Given the description of an element on the screen output the (x, y) to click on. 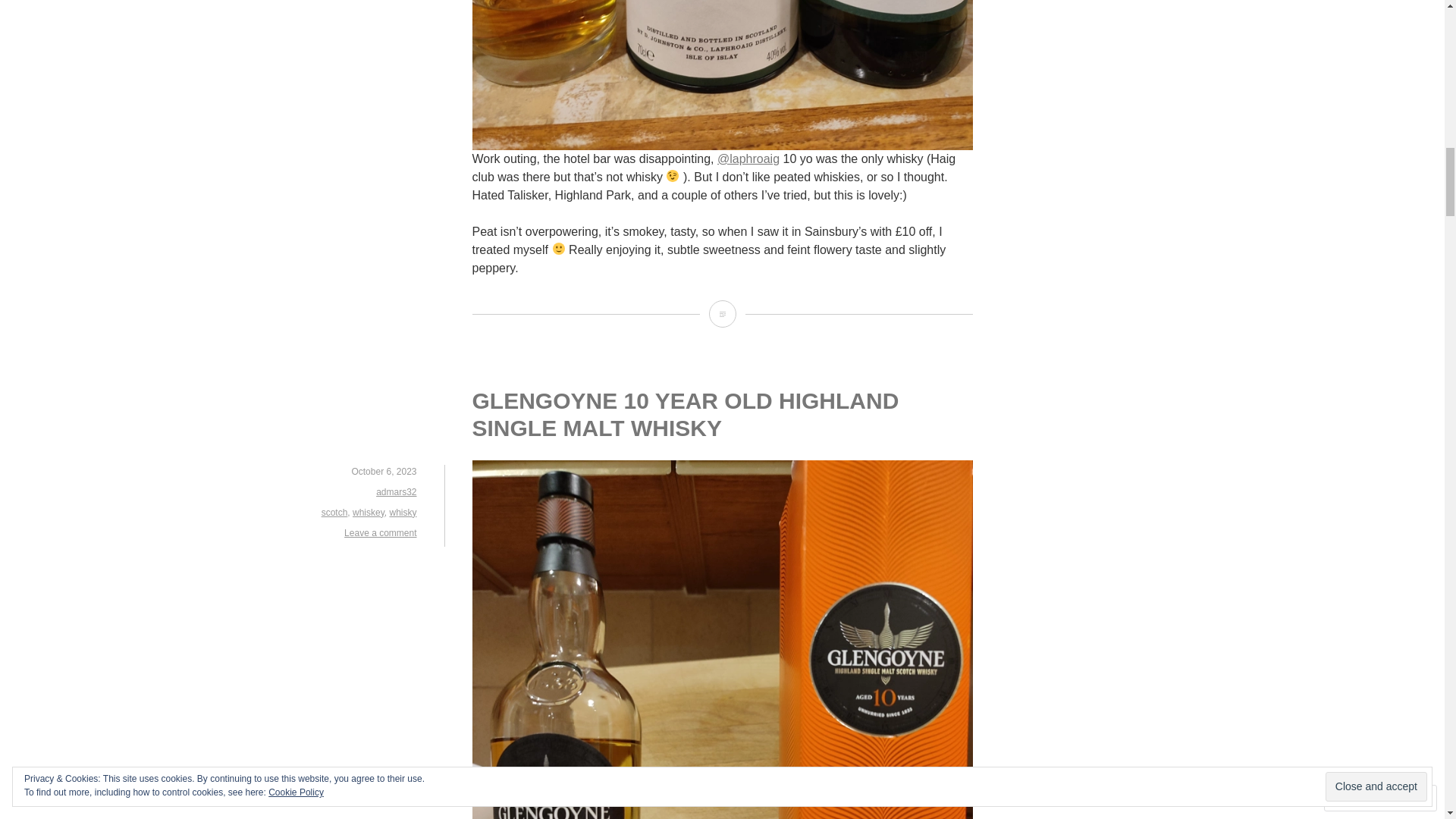
Leave a comment (379, 532)
scotch (334, 511)
October 6, 2023 (383, 471)
whiskey (368, 511)
admars32 (395, 491)
GLENGOYNE 10 YEAR OLD HIGHLAND SINGLE MALT WHISKY (684, 414)
whisky (402, 511)
